Given the description of an element on the screen output the (x, y) to click on. 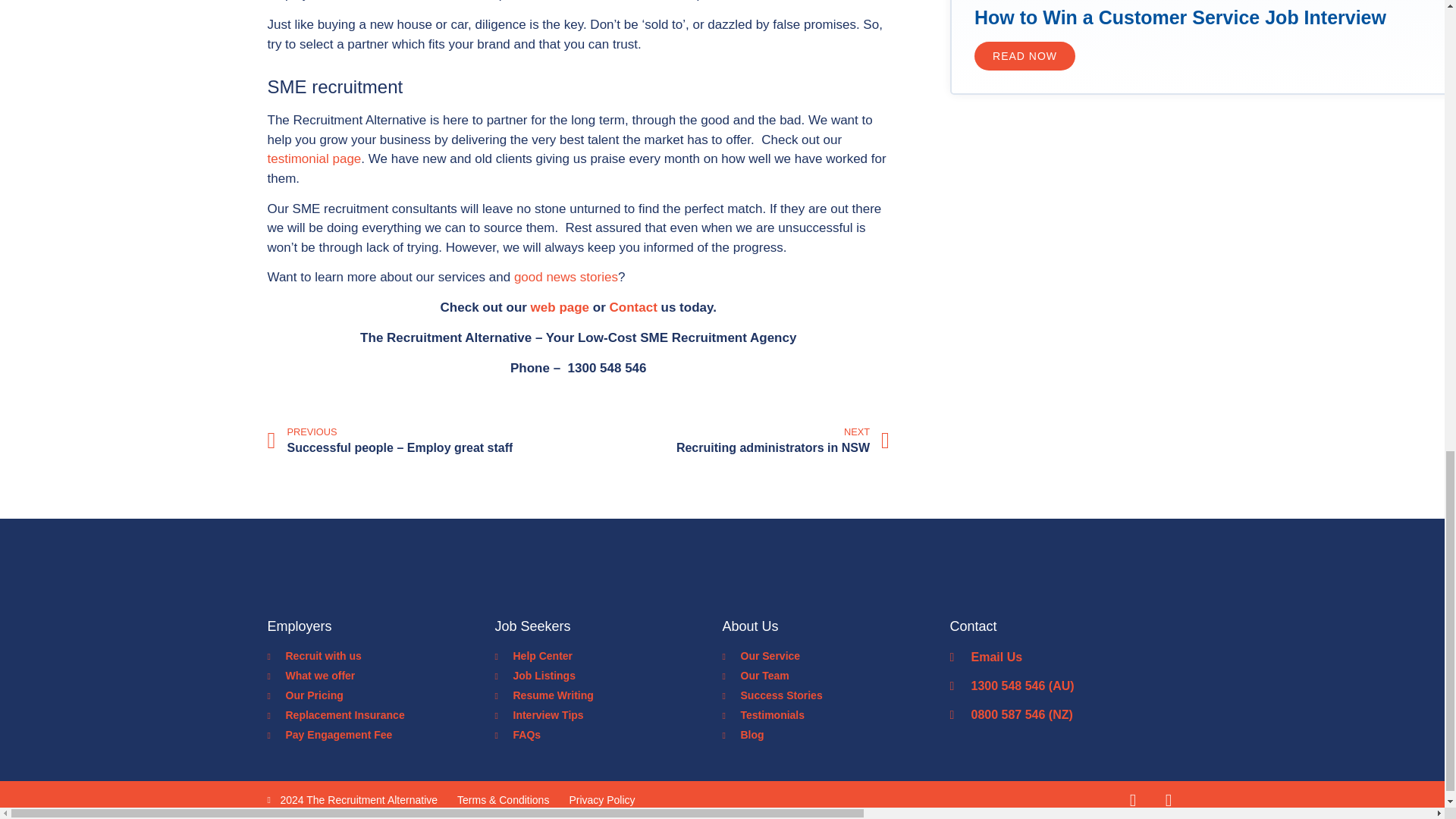
How to Win a Customer Service Job Interview (1180, 16)
Recruit with us (380, 656)
FAQs (608, 734)
Help Center (608, 656)
Testimonials (835, 715)
Our Service (835, 656)
What we offer (380, 675)
READ NOW (735, 440)
Our Pricing (1024, 55)
